Given the description of an element on the screen output the (x, y) to click on. 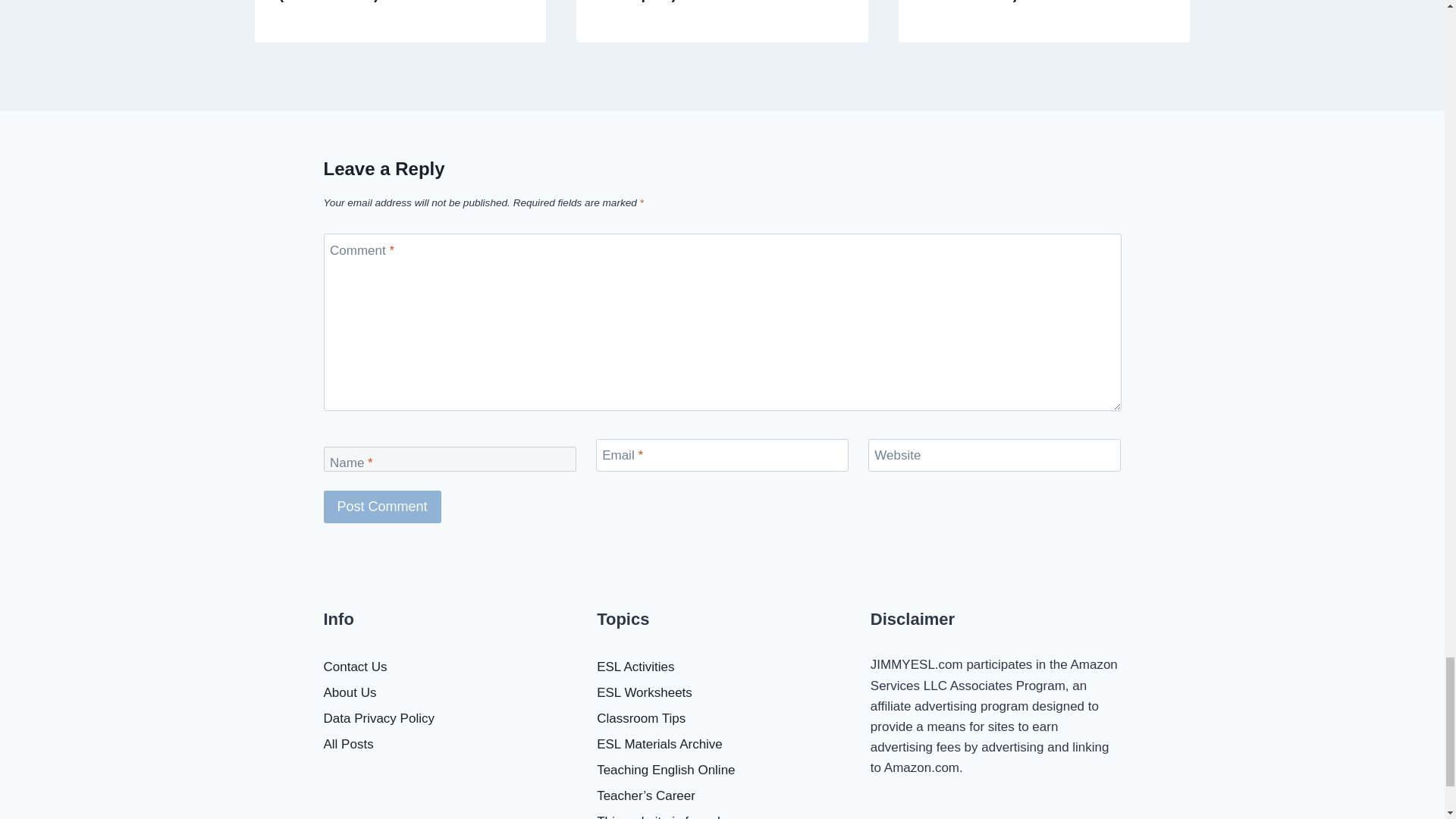
Contact Us (448, 667)
All Posts (448, 744)
Post Comment (382, 506)
About Us (448, 692)
ESL Activities (721, 667)
Post Comment (382, 506)
Data Privacy Policy (448, 718)
